Given the description of an element on the screen output the (x, y) to click on. 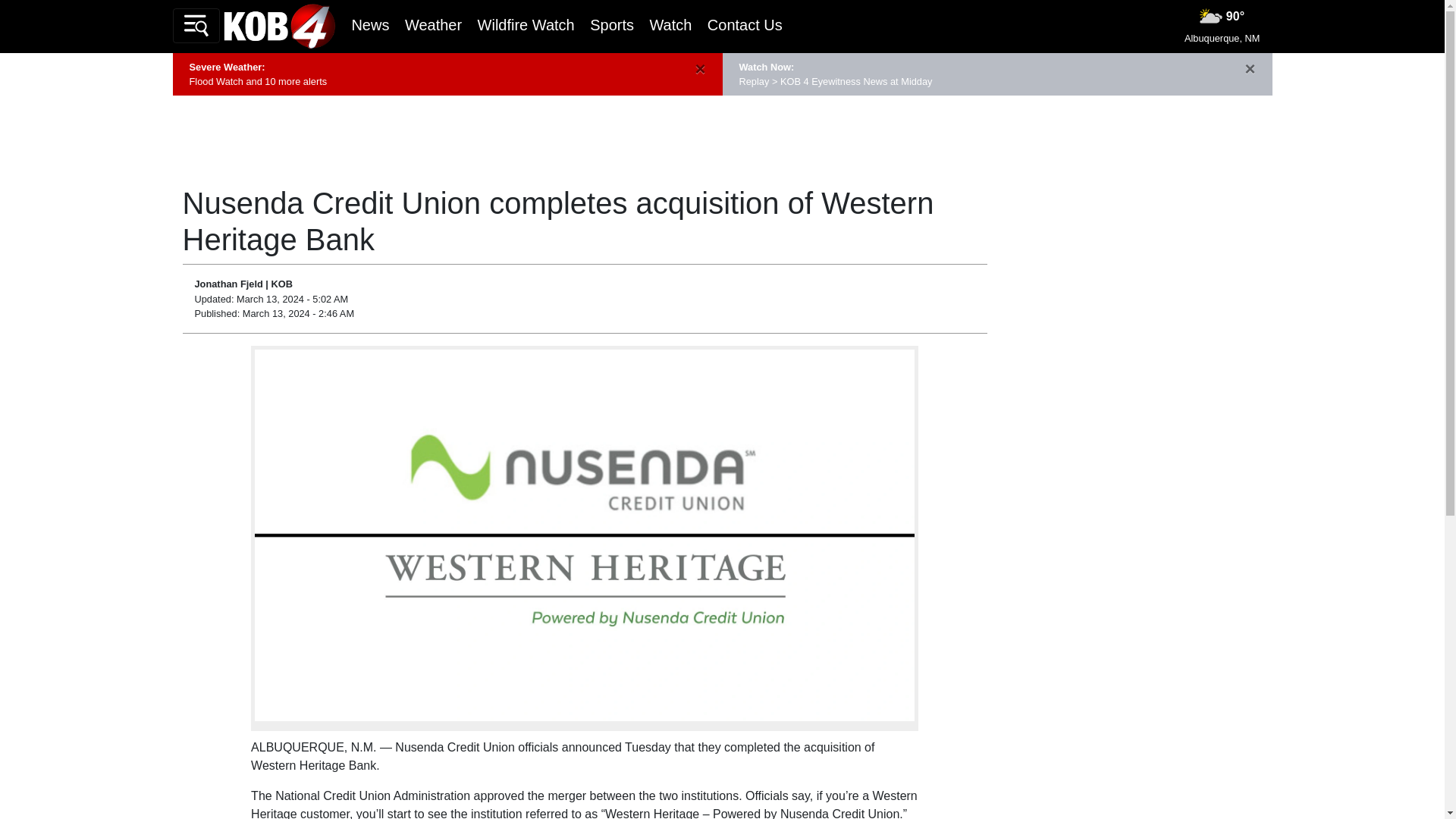
Sports (611, 24)
News (369, 24)
Watch (670, 24)
Contact Us (745, 24)
Weather (432, 24)
Wildfire Watch (526, 24)
